Given the description of an element on the screen output the (x, y) to click on. 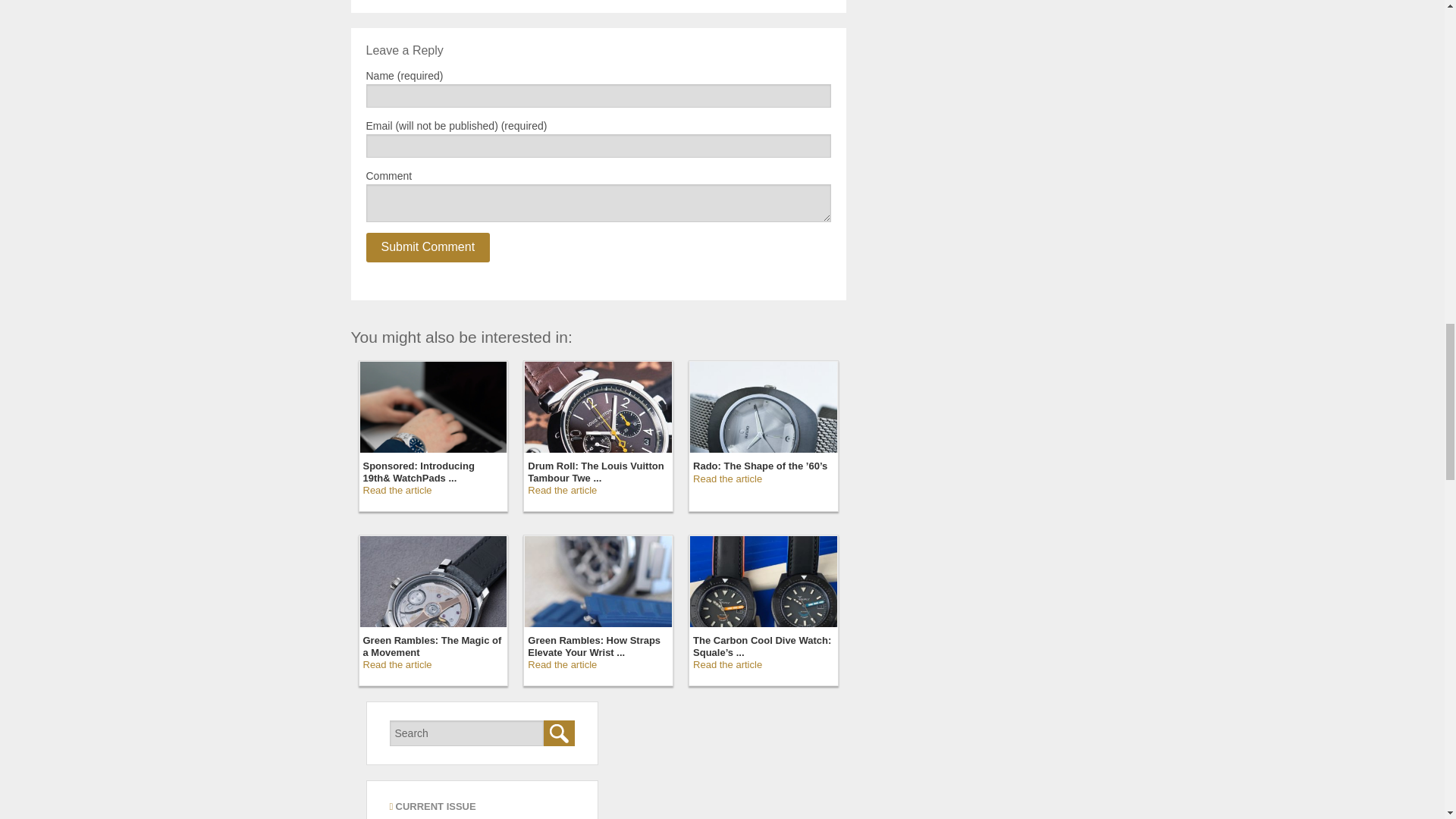
Submit Comment (427, 247)
